Given the description of an element on the screen output the (x, y) to click on. 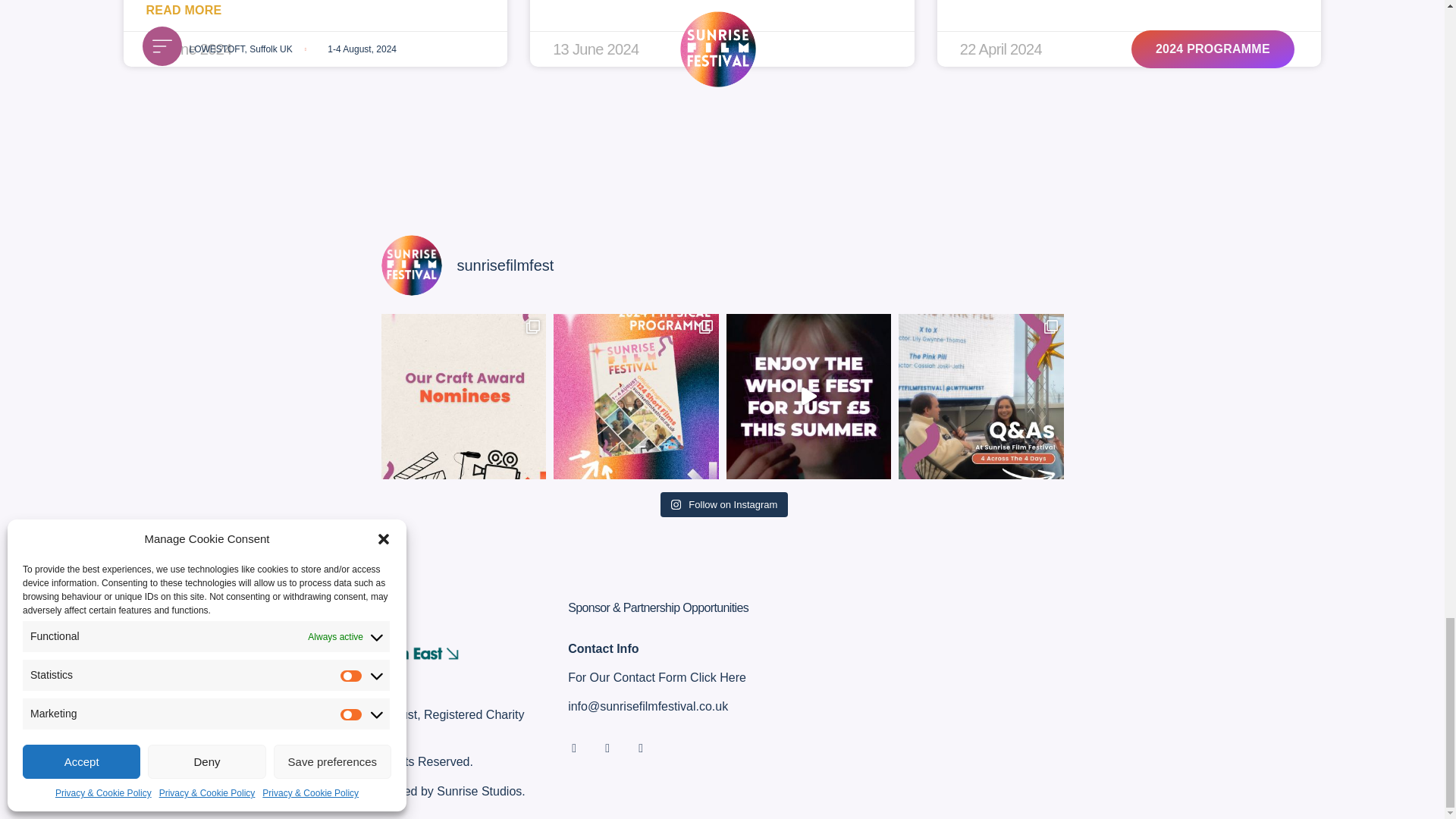
Sunrise Studios. (480, 790)
Privacy Policy (282, 790)
READ MORE (183, 9)
Follow on Instagram (725, 504)
sunrisefilmfest (721, 265)
